Given the description of an element on the screen output the (x, y) to click on. 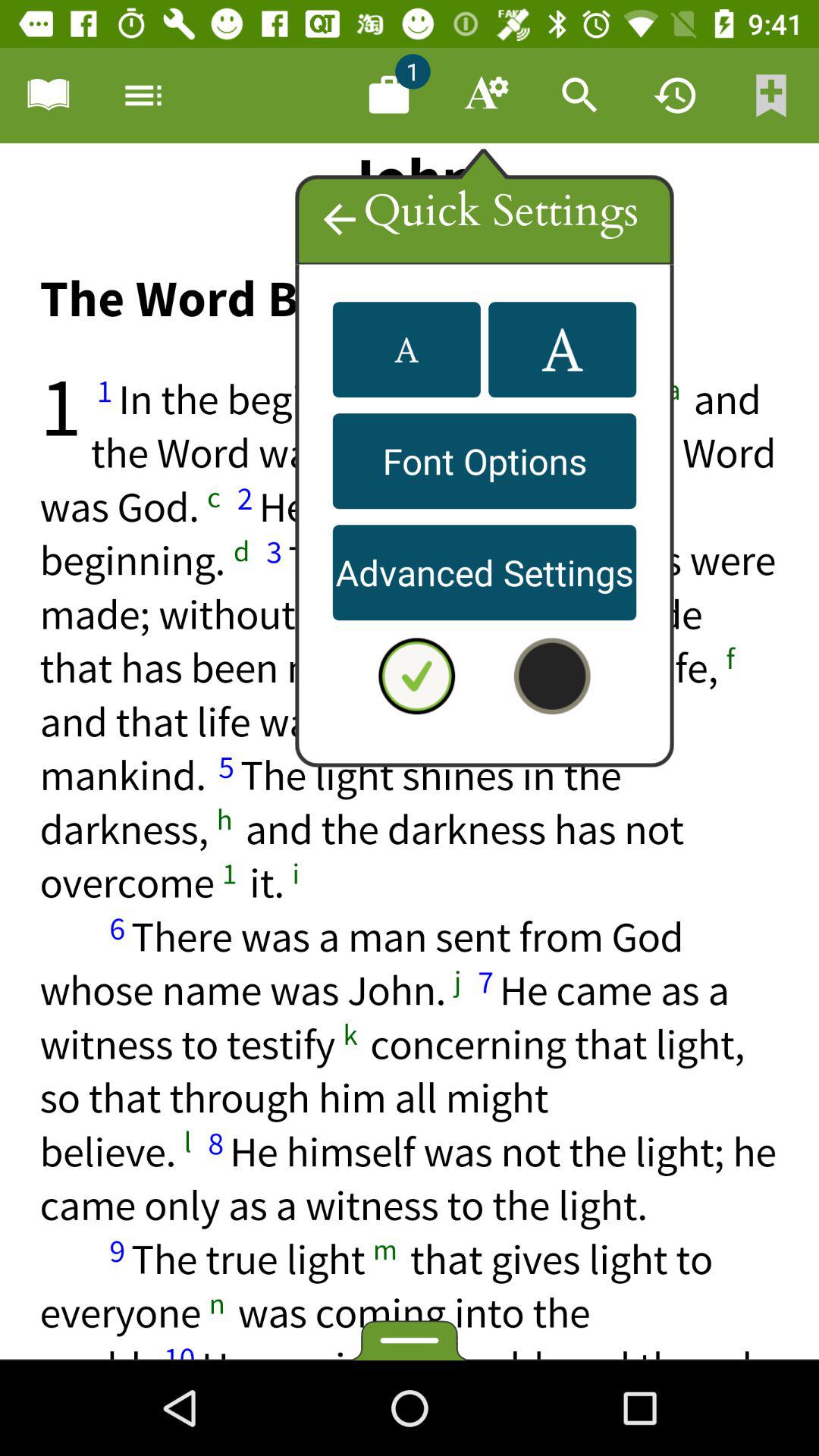
search text (579, 95)
